Given the description of an element on the screen output the (x, y) to click on. 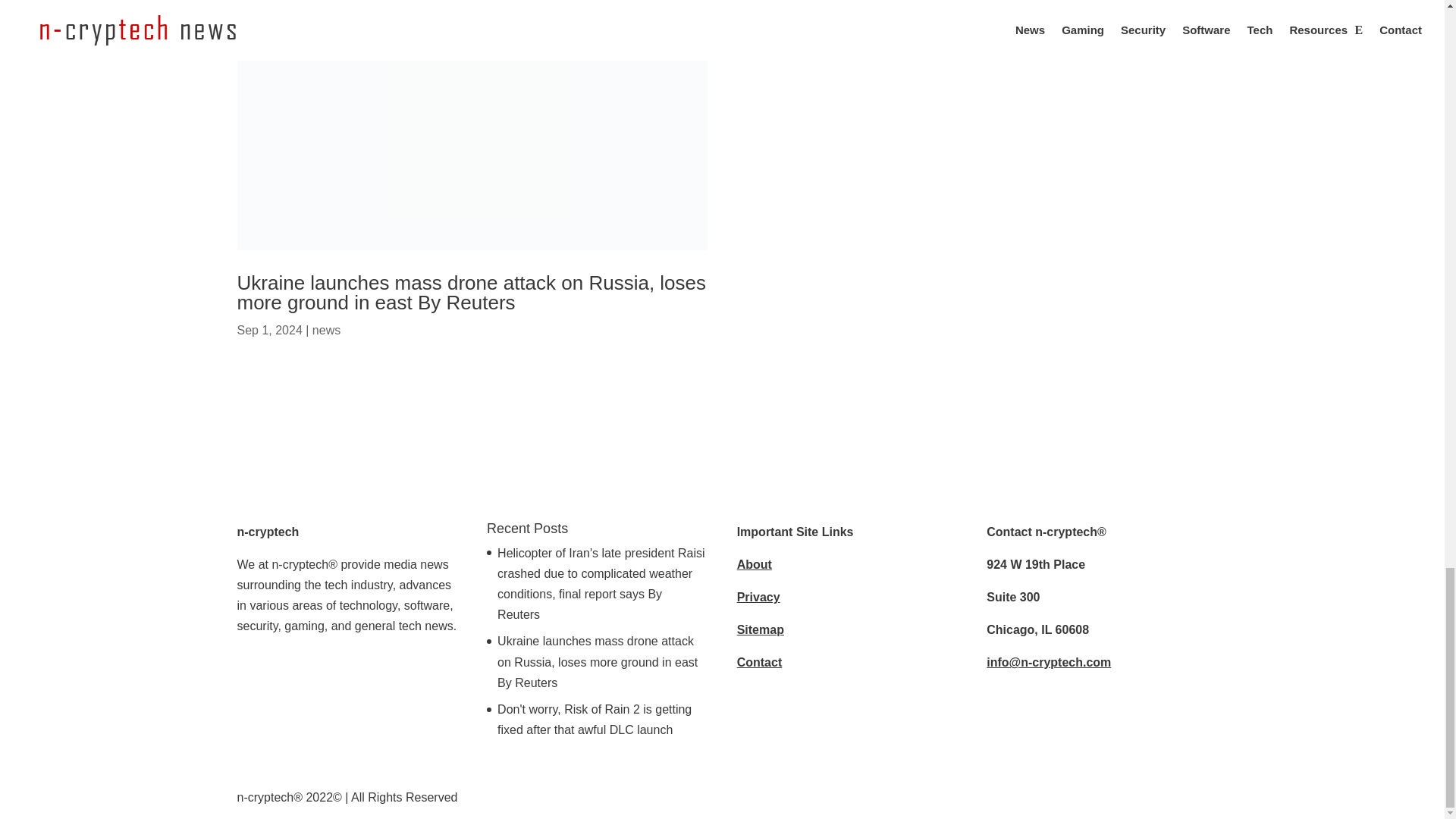
Sitemap (760, 629)
Privacy (758, 596)
news (326, 329)
About (753, 563)
